Given the description of an element on the screen output the (x, y) to click on. 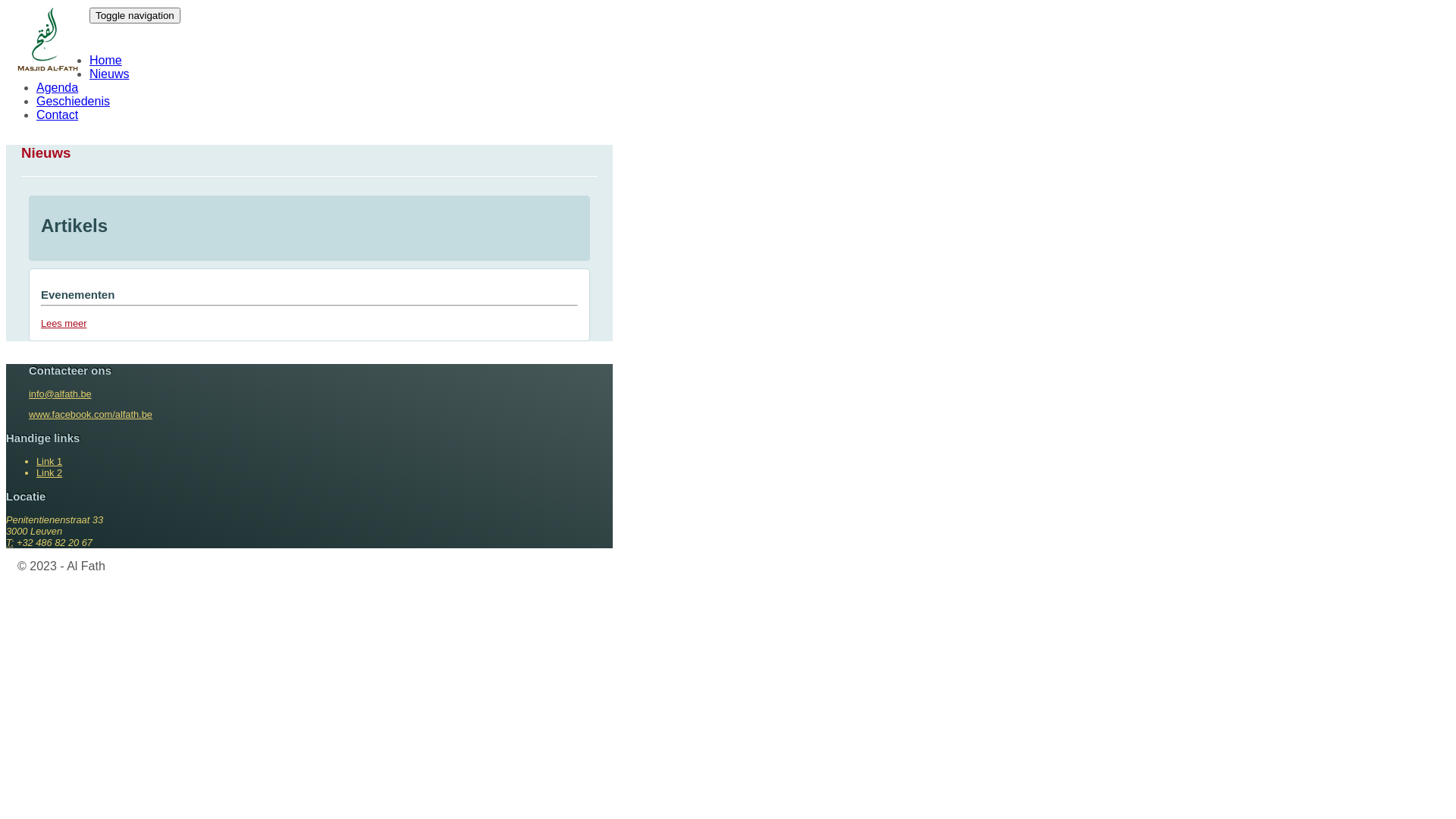
Link 2 Element type: text (49, 472)
Contact Element type: text (57, 103)
Lees meer Element type: text (63, 323)
info@alfath.be Element type: text (59, 393)
Agenda Element type: text (57, 76)
Home Element type: text (105, 48)
Geschiedenis Element type: text (72, 89)
Link 1 Element type: text (49, 461)
www.facebook.com/alfath.be Element type: text (90, 414)
Nieuws Element type: text (108, 62)
Toggle navigation Element type: text (134, 15)
